Given the description of an element on the screen output the (x, y) to click on. 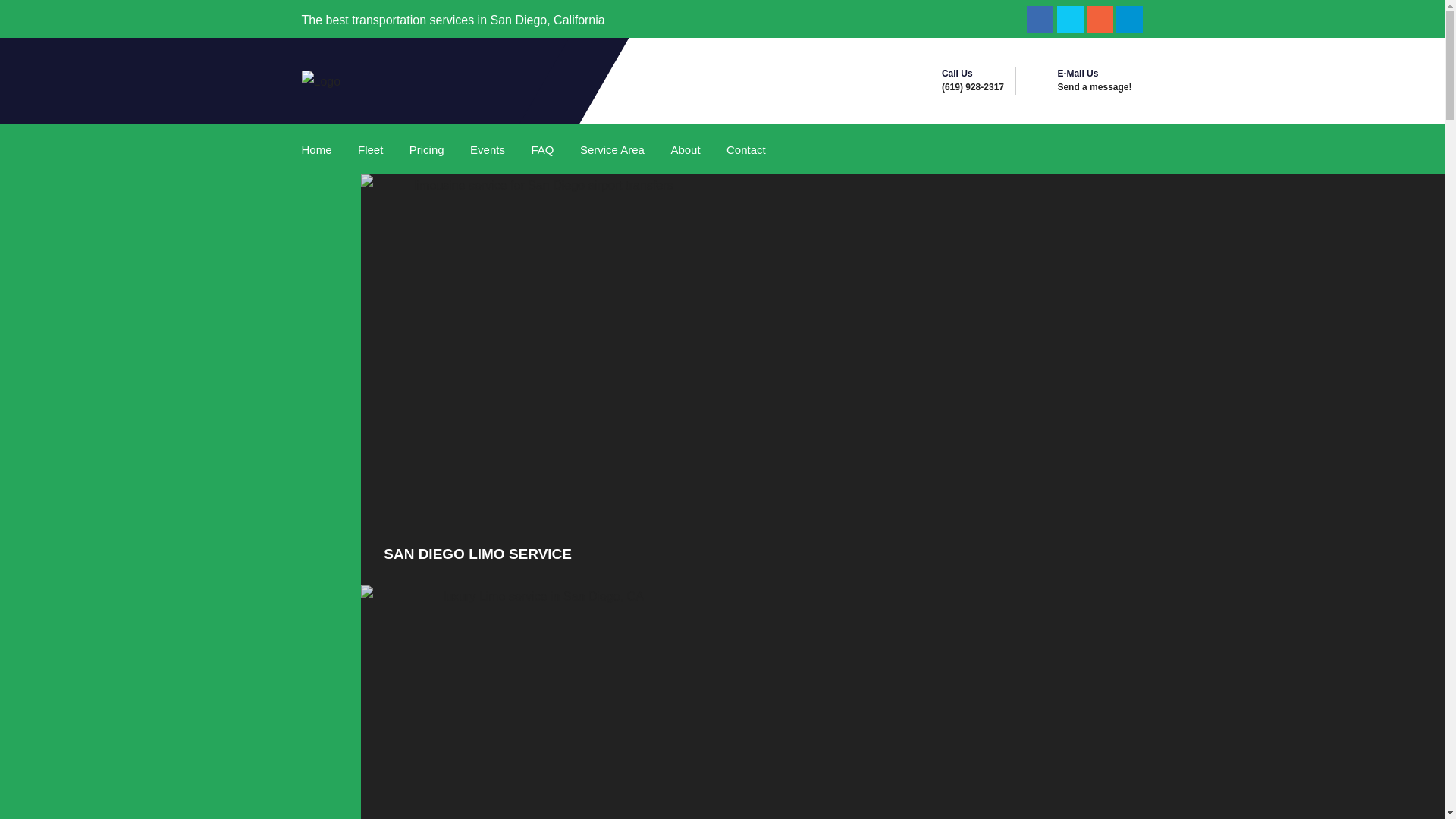
Pricing (426, 149)
Send a message! (1094, 86)
Contact (745, 149)
Service Area (612, 149)
About (685, 149)
Events (487, 149)
Fleet (370, 149)
